Given the description of an element on the screen output the (x, y) to click on. 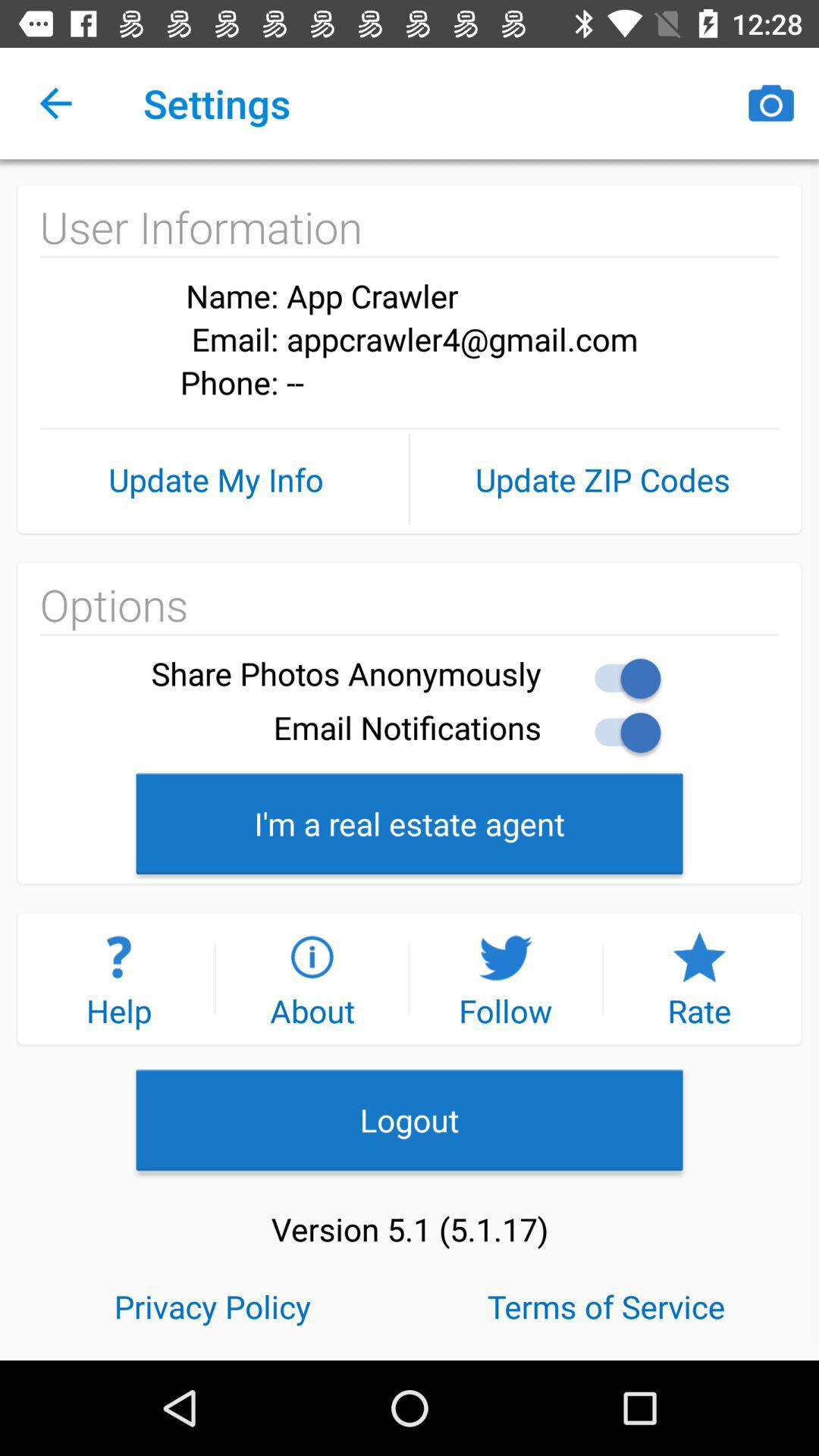
jump to terms of service item (606, 1305)
